Given the description of an element on the screen output the (x, y) to click on. 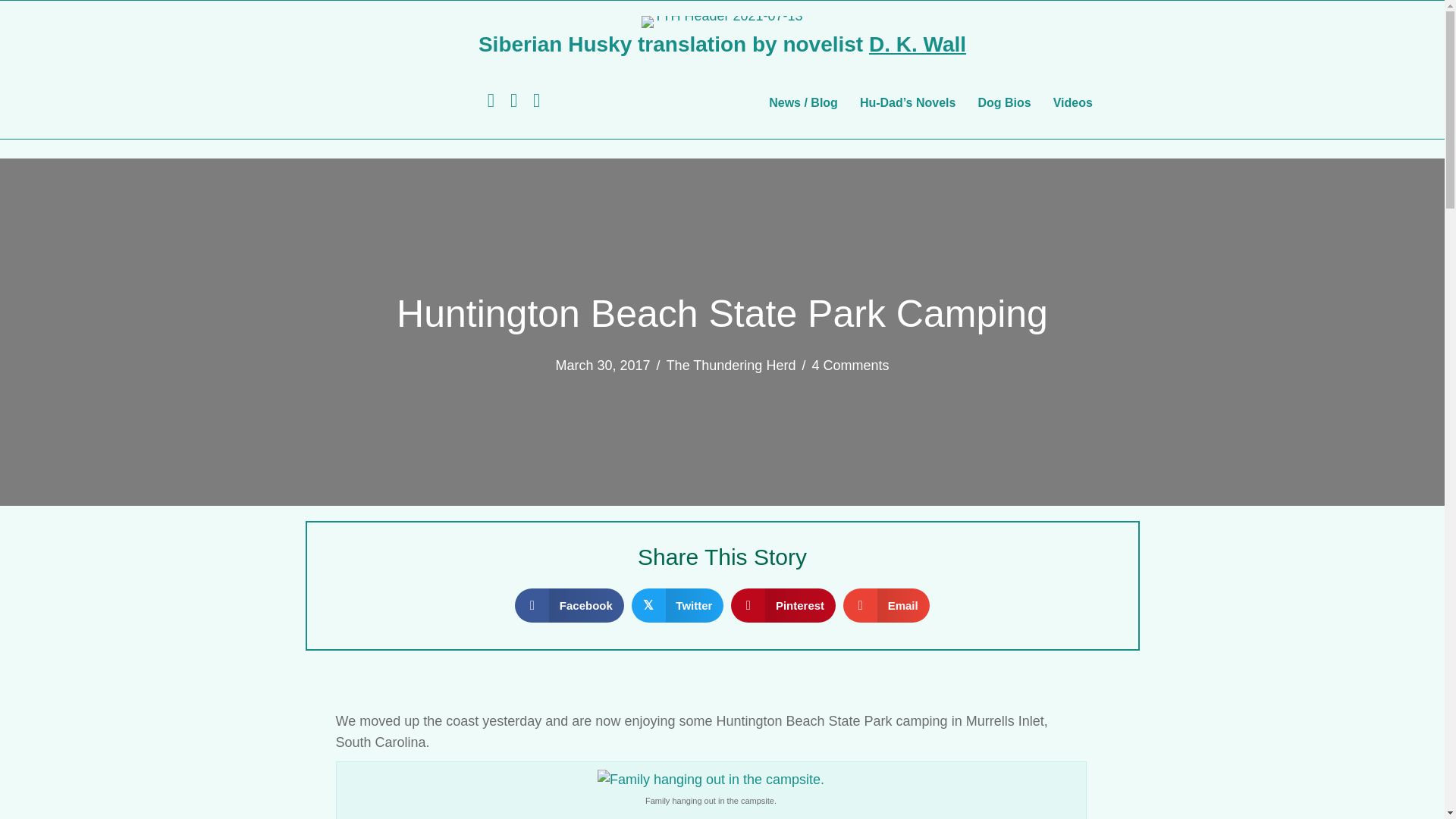
Dog Bios (1003, 103)
4 Comments (849, 365)
Pinterest (782, 605)
The Thundering Herd (731, 365)
Videos (1072, 103)
Email (886, 605)
Facebook (569, 605)
D. K. Wall (917, 44)
TTH Header 2021-07-13 (722, 21)
